Given the description of an element on the screen output the (x, y) to click on. 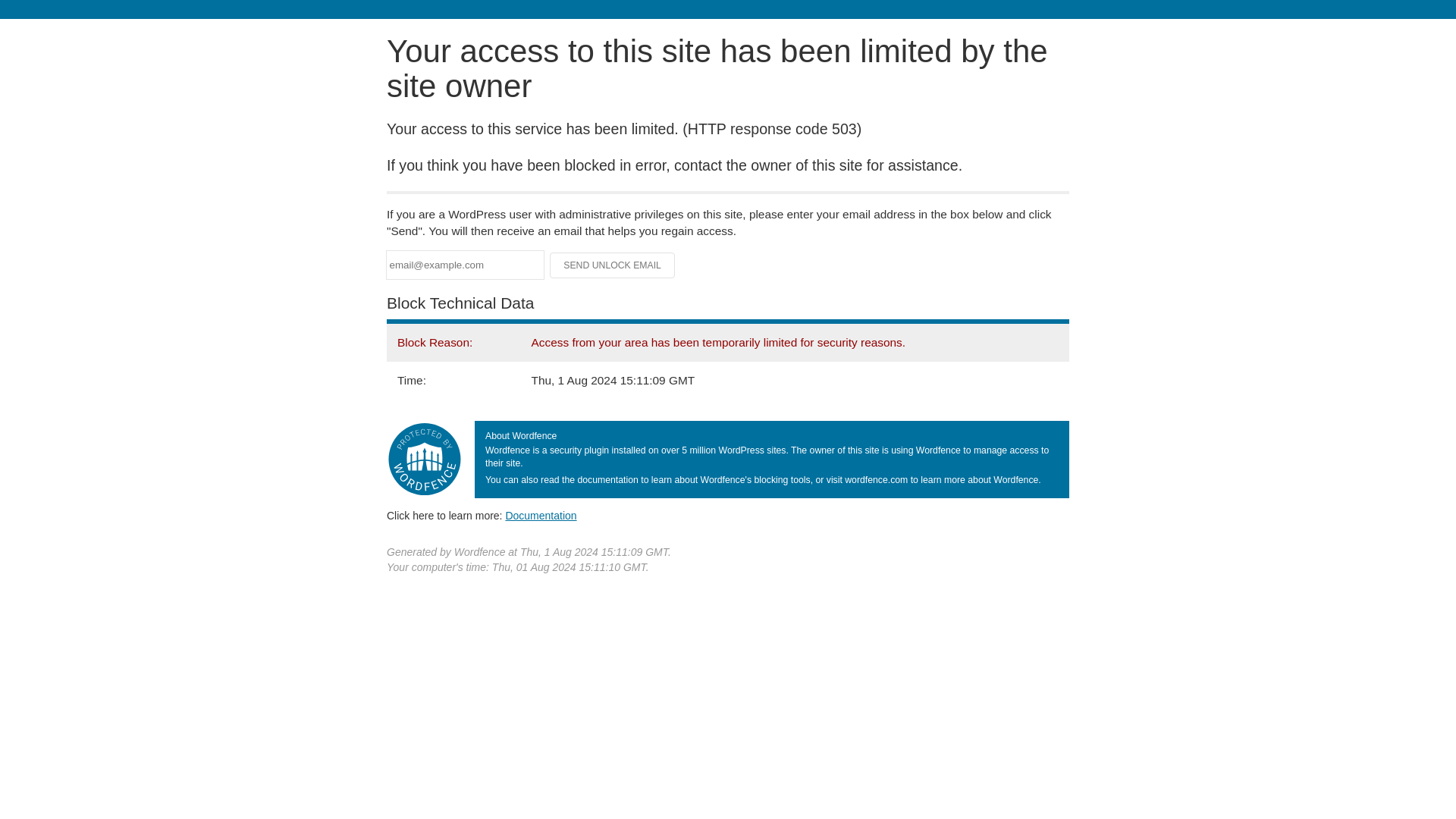
Send Unlock Email (612, 265)
Documentation (540, 515)
Send Unlock Email (612, 265)
